Given the description of an element on the screen output the (x, y) to click on. 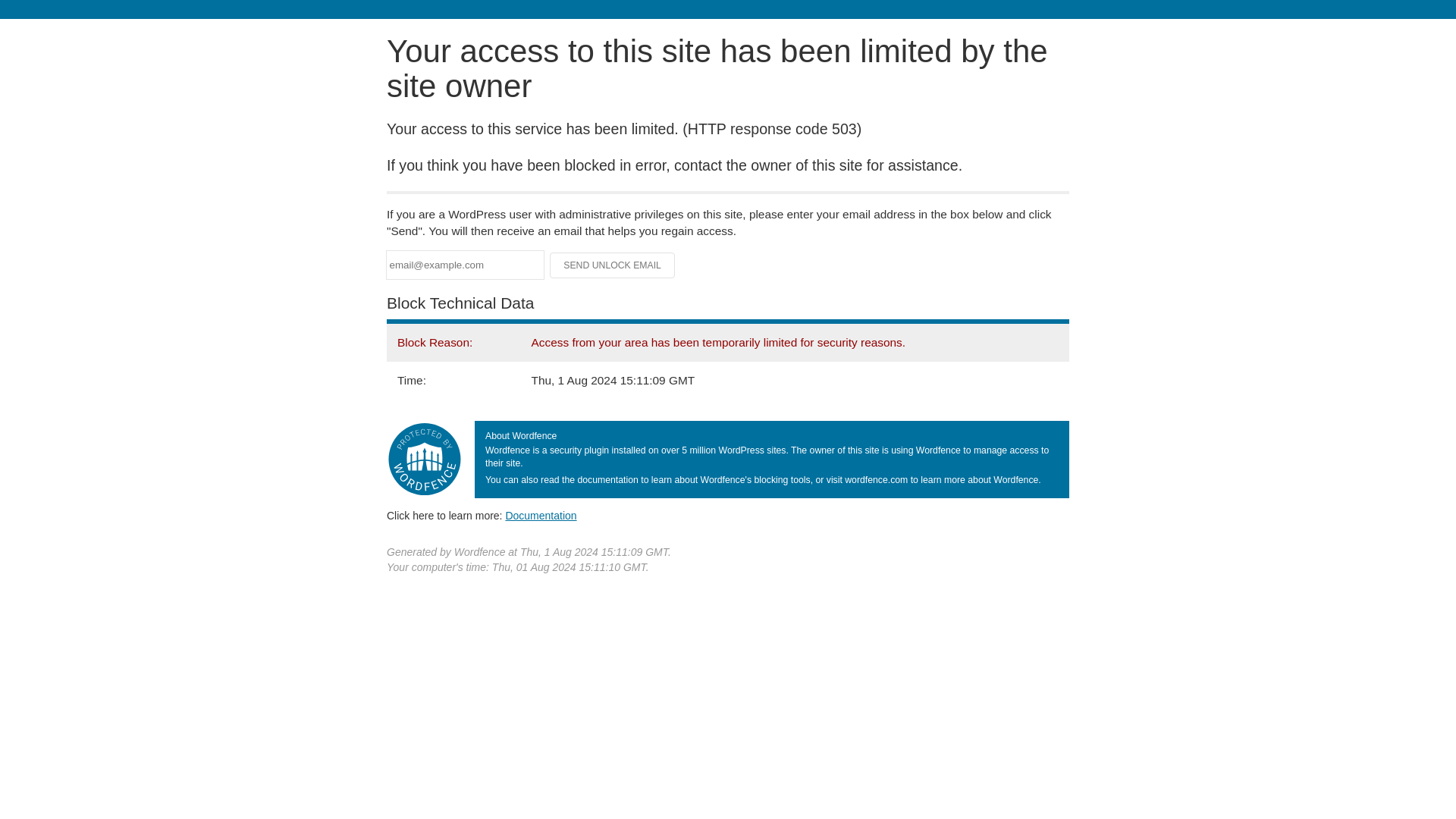
Send Unlock Email (612, 265)
Documentation (540, 515)
Send Unlock Email (612, 265)
